Given the description of an element on the screen output the (x, y) to click on. 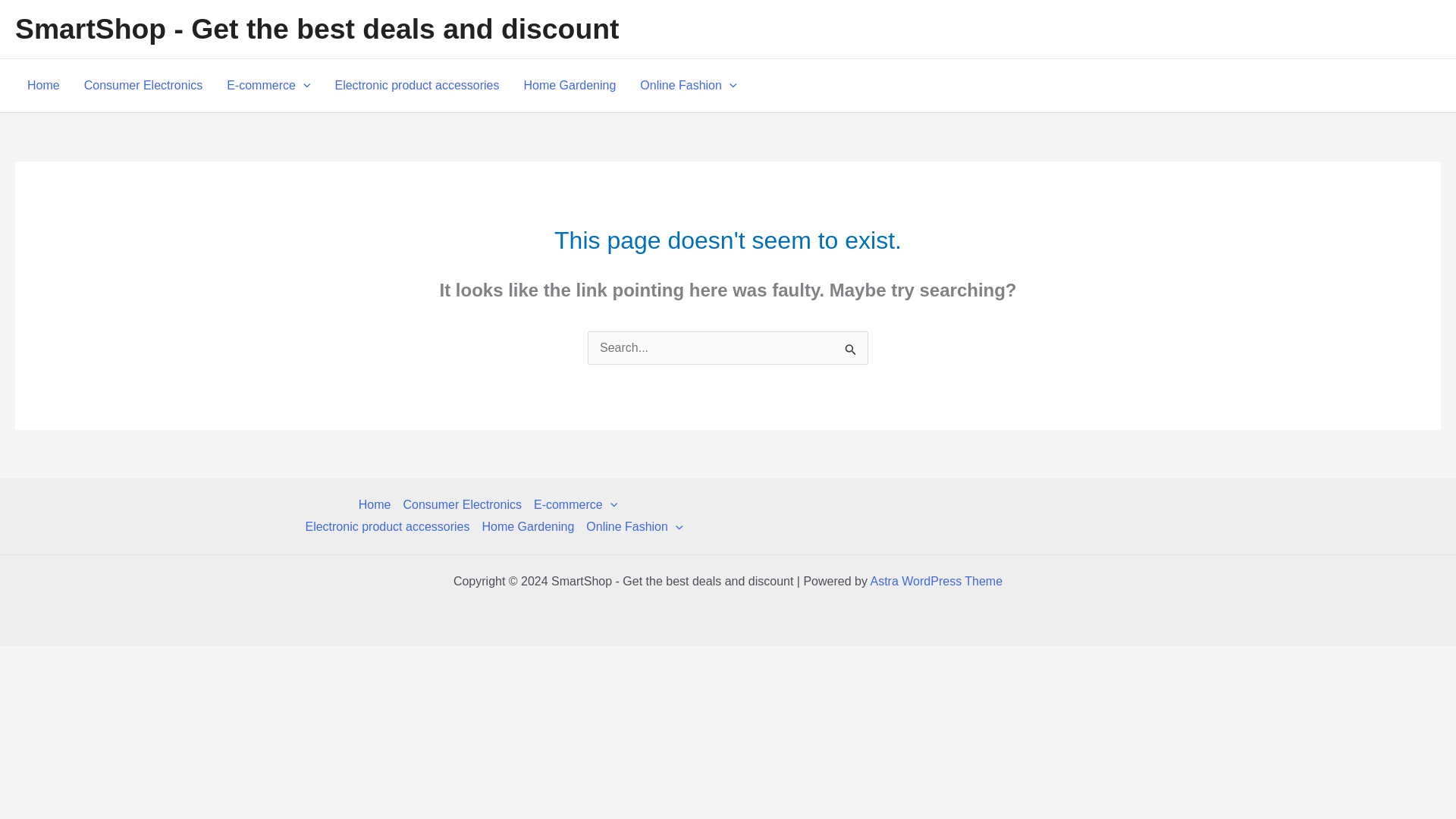
Consumer Electronics (143, 85)
E-commerce (267, 85)
SmartShop - Get the best deals and discount (316, 29)
Online Fashion (630, 526)
E-commerce (575, 504)
Consumer Electronics (461, 504)
Home (42, 85)
Home (377, 504)
Electronic product accessories (387, 526)
Home Gardening (527, 526)
